Given the description of an element on the screen output the (x, y) to click on. 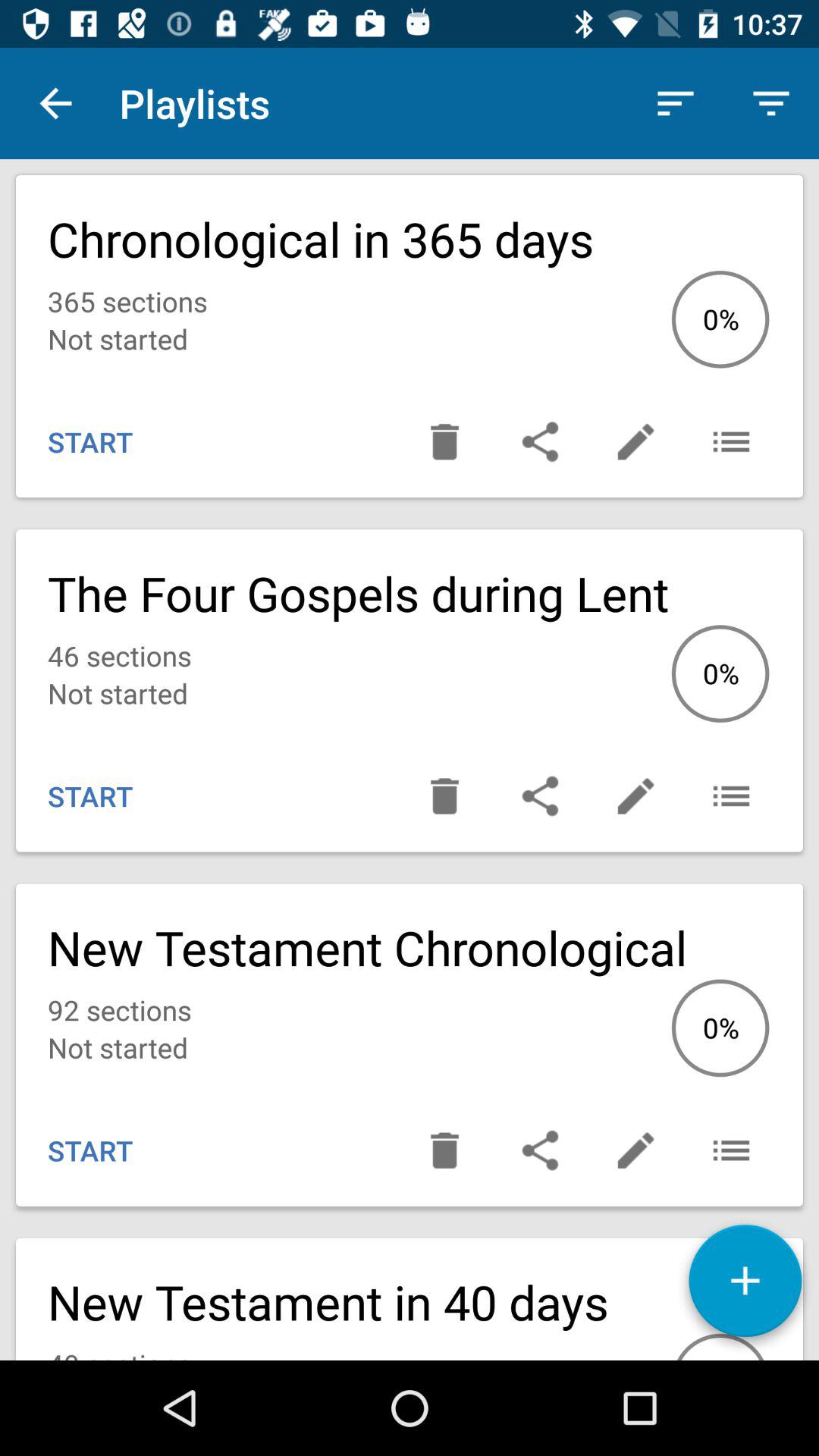
choose icon to the left of the playlists item (55, 103)
